Given the description of an element on the screen output the (x, y) to click on. 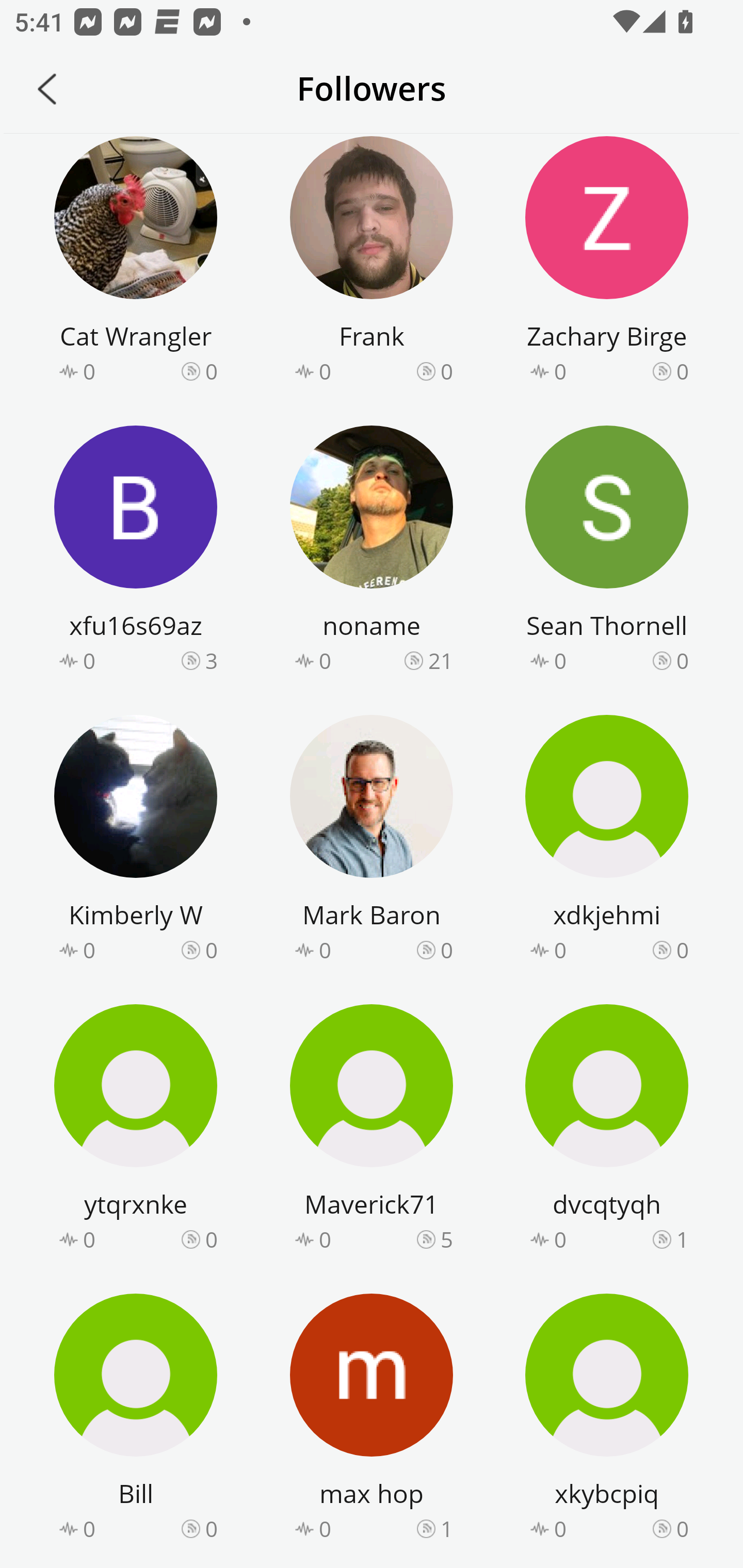
Back (46, 88)
Cat Wrangler 0 0 (135, 262)
Frank 0 0 (371, 262)
Zachary Birge 0 0 (606, 262)
0 (211, 370)
0 (446, 370)
0 (682, 370)
xfu16s69az 0 3 (135, 551)
noname 0 21 (371, 551)
Sean Thornell 0 0 (606, 551)
3 (211, 660)
21 (440, 660)
0 (682, 660)
Kimberly W 0 0 (135, 841)
Mark Baron 0 0 (371, 841)
xdkjehmi 0 0 (606, 841)
0 (211, 949)
0 (446, 949)
0 (682, 949)
ytqrxnke 0 0 (135, 1130)
Maverick71 0 5 (371, 1130)
dvcqtyqh 0 1 (606, 1130)
0 (211, 1239)
5 (446, 1239)
1 (682, 1239)
Bill 0 0 (135, 1420)
max hop 0 1 (371, 1420)
xkybcpiq 0 0 (606, 1420)
0 (211, 1528)
1 (446, 1528)
0 (682, 1528)
